Given the description of an element on the screen output the (x, y) to click on. 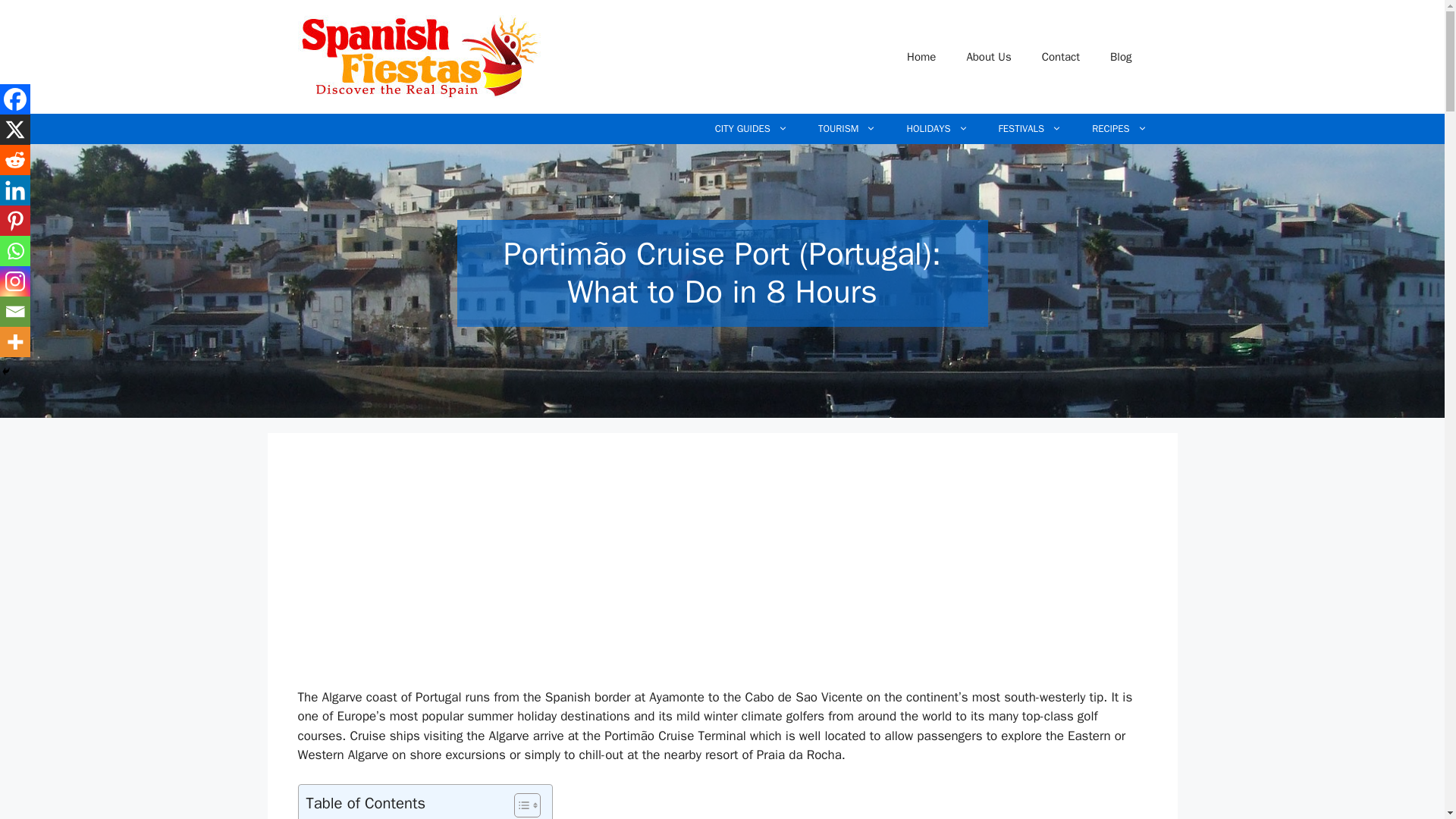
HOLIDAYS (936, 128)
CITY GUIDES (751, 128)
TOURISM (847, 128)
FESTIVALS (1030, 128)
Blog (1120, 56)
Home (920, 56)
Contact (1060, 56)
RECIPES (1119, 128)
About Us (988, 56)
Advertisement (607, 575)
